Given the description of an element on the screen output the (x, y) to click on. 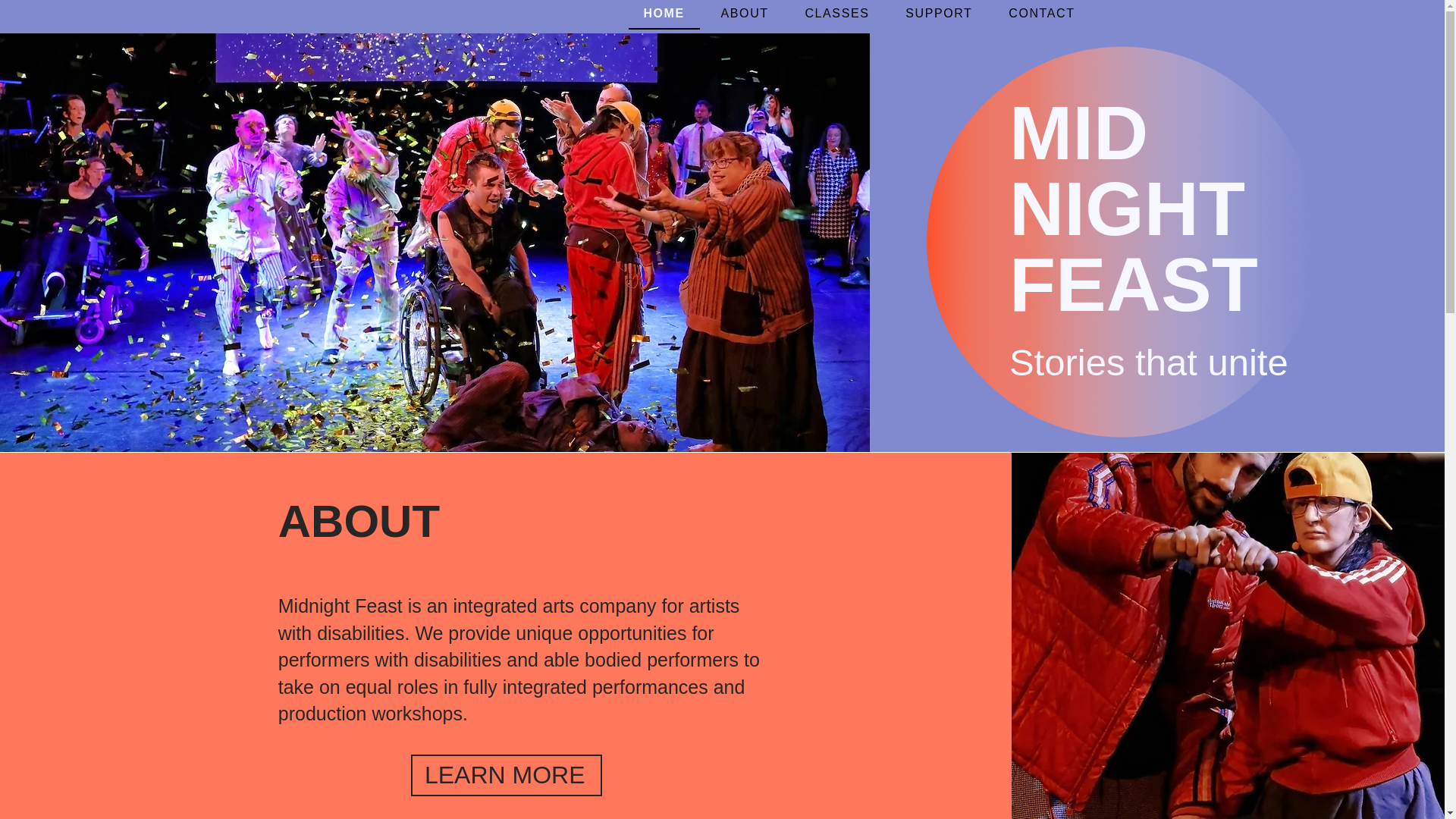
LEARN MORE Element type: text (506, 775)
circle transp.png Element type: hover (1122, 241)
